Given the description of an element on the screen output the (x, y) to click on. 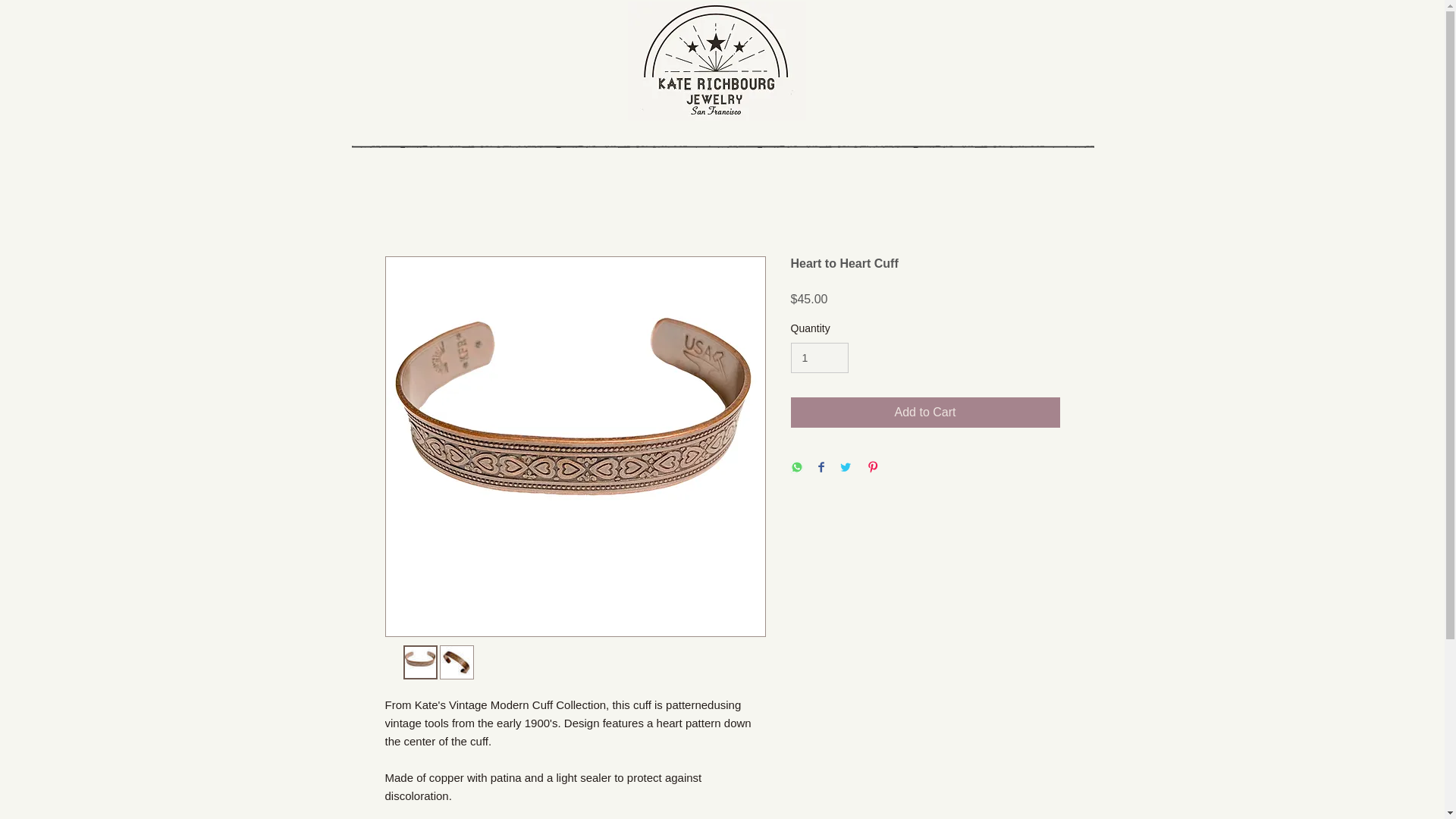
Add to Cart (924, 412)
1 (818, 358)
